Given the description of an element on the screen output the (x, y) to click on. 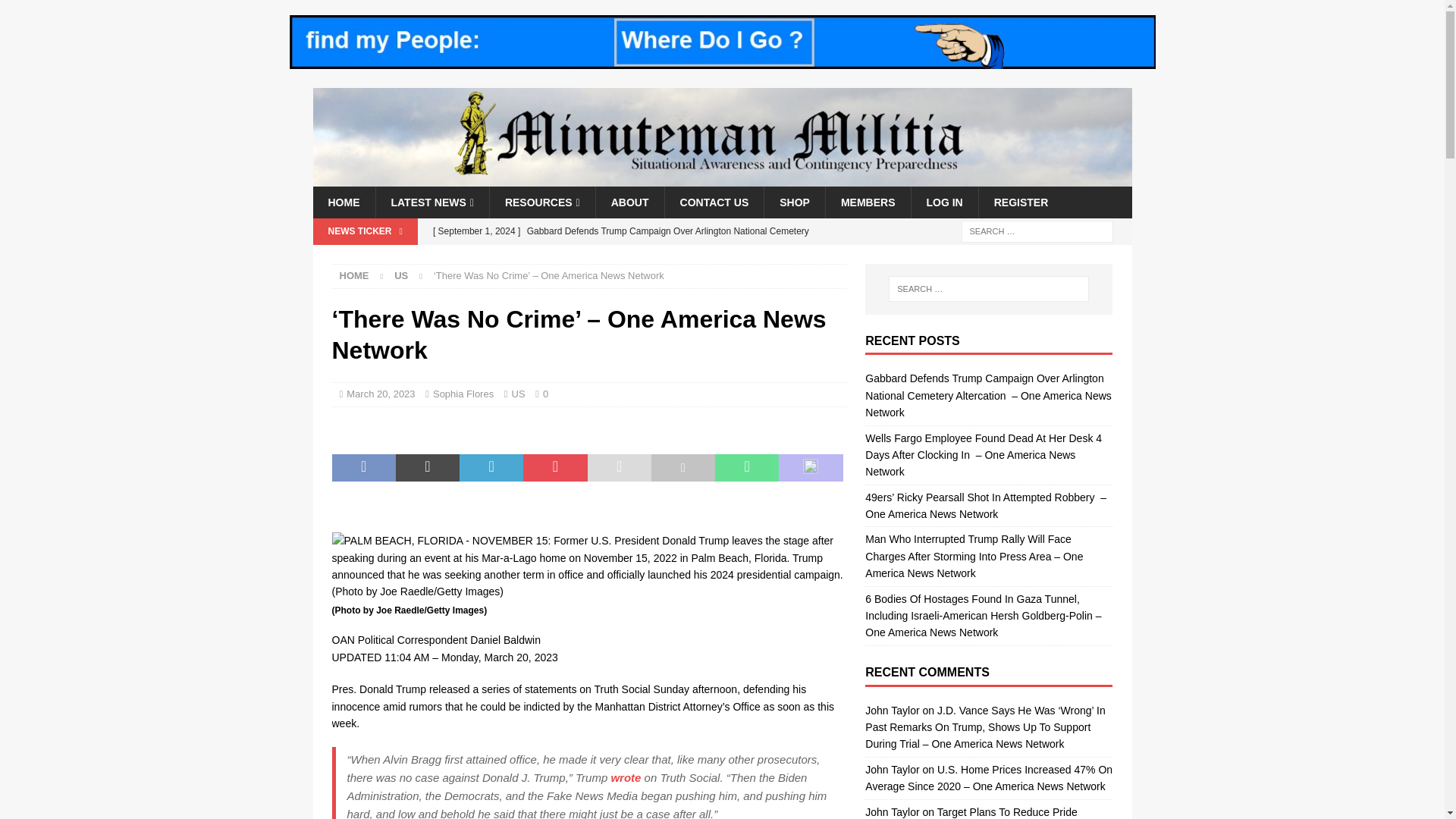
Minuteman Militia (722, 177)
HOME (343, 202)
Send this article to a friend (619, 467)
REGISTER (1021, 202)
ABOUT (629, 202)
Share on LinkedIn (491, 467)
March 20, 2023 (380, 393)
LOG IN (943, 202)
US (400, 275)
Tweet This Post (428, 467)
